Given the description of an element on the screen output the (x, y) to click on. 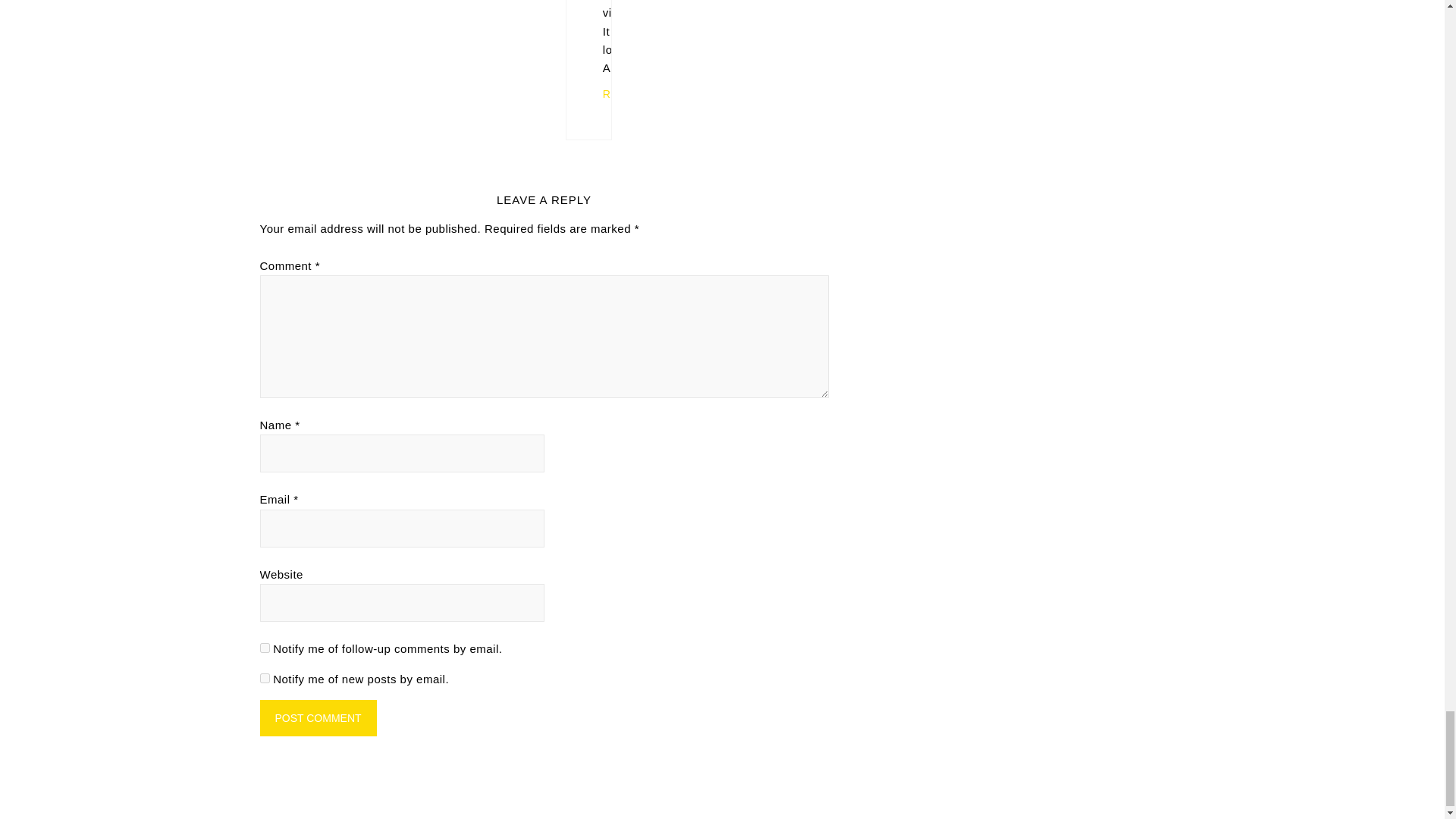
Post Comment (317, 718)
subscribe (264, 647)
subscribe (264, 678)
